Given the description of an element on the screen output the (x, y) to click on. 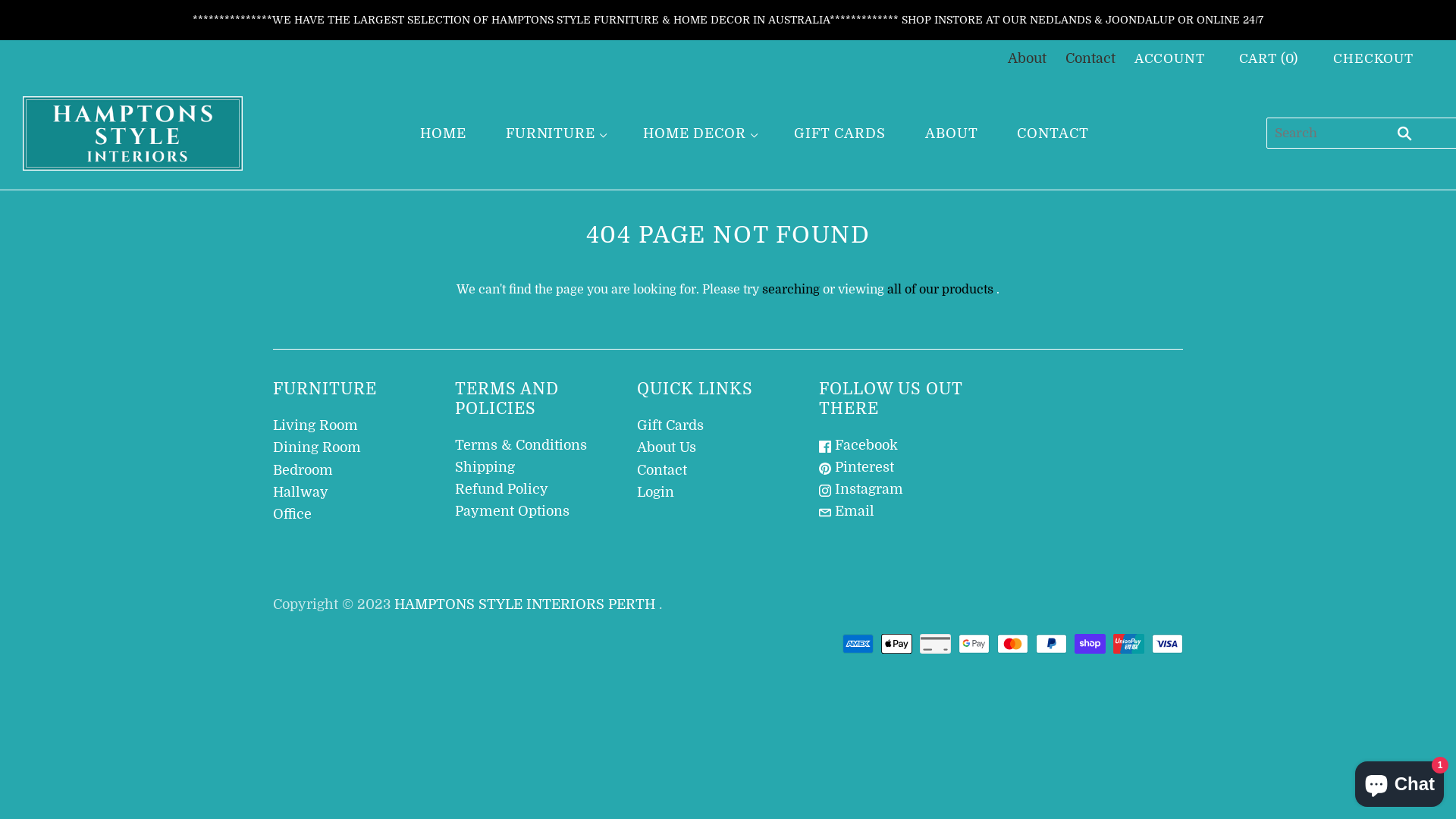
Bedroom Element type: text (302, 469)
Shipping Element type: text (484, 466)
ABOUT Element type: text (951, 133)
Contact Element type: text (662, 469)
CONTACT Element type: text (1052, 133)
About Us Element type: text (666, 447)
Refund Policy Element type: text (501, 488)
all of our products Element type: text (940, 289)
HAMPTONS STYLE INTERIORS PERTH Element type: text (524, 603)
Hallway Element type: text (300, 491)
ACCOUNT Element type: text (1169, 58)
Facebook Element type: text (858, 444)
CHECKOUT Element type: text (1373, 58)
Instagram Element type: text (861, 488)
HOME Element type: text (443, 133)
Dining Room Element type: text (316, 447)
About Element type: text (1026, 57)
Terms & Conditions Element type: text (520, 444)
Gift Cards Element type: text (670, 425)
GIFT CARDS Element type: text (839, 133)
Pinterest Element type: text (856, 466)
searching Element type: text (790, 289)
Login Element type: text (655, 491)
CART (0) Element type: text (1269, 58)
HOME DECOR Element type: text (698, 133)
FURNITURE Element type: text (554, 133)
Living Room Element type: text (315, 425)
Email Element type: text (846, 510)
Office Element type: text (292, 513)
Payment Options Element type: text (512, 510)
Contact Element type: text (1090, 57)
Shopify online store chat Element type: hover (1399, 780)
